Given the description of an element on the screen output the (x, y) to click on. 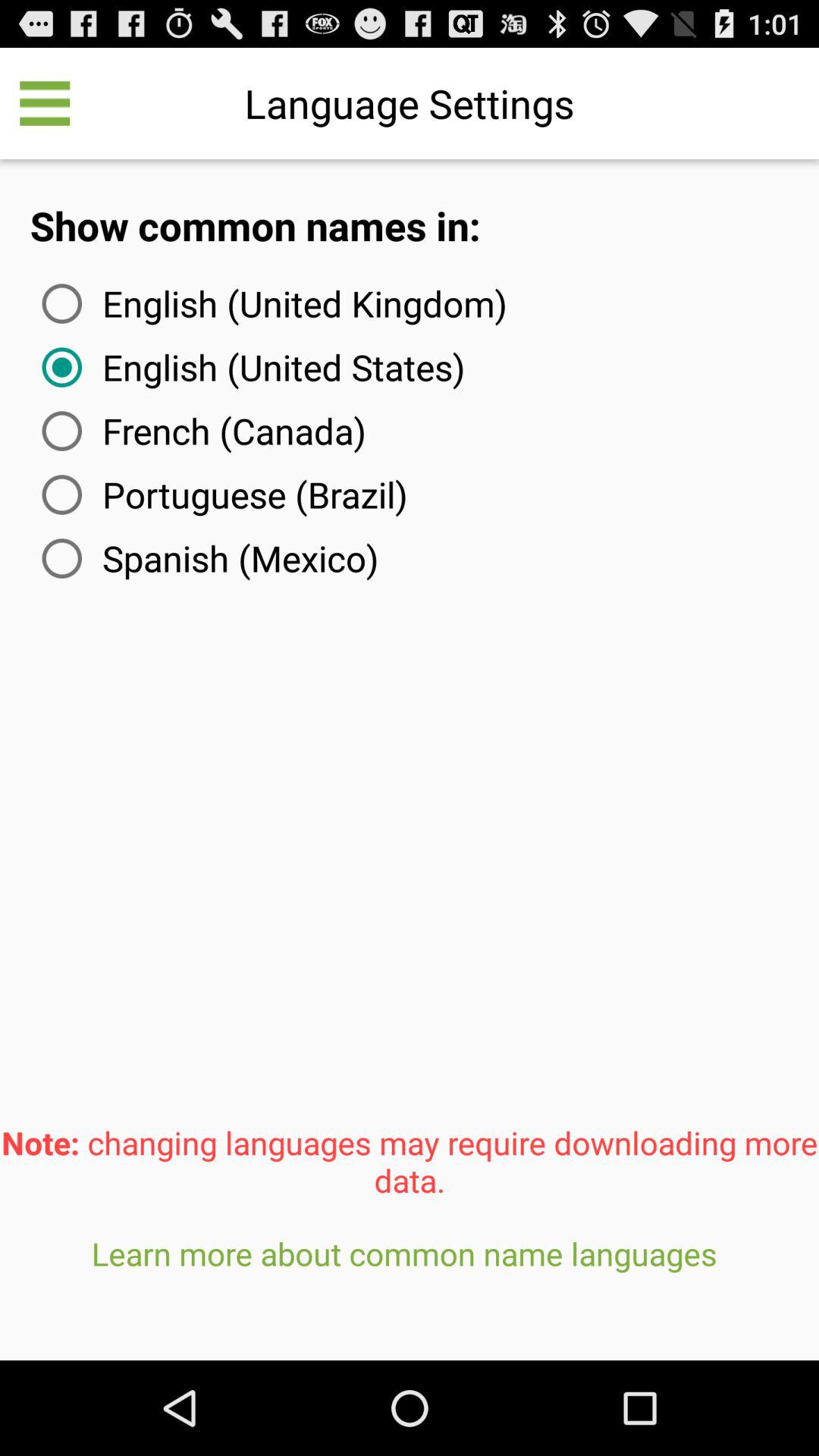
turn off the learn more about item (409, 1290)
